Given the description of an element on the screen output the (x, y) to click on. 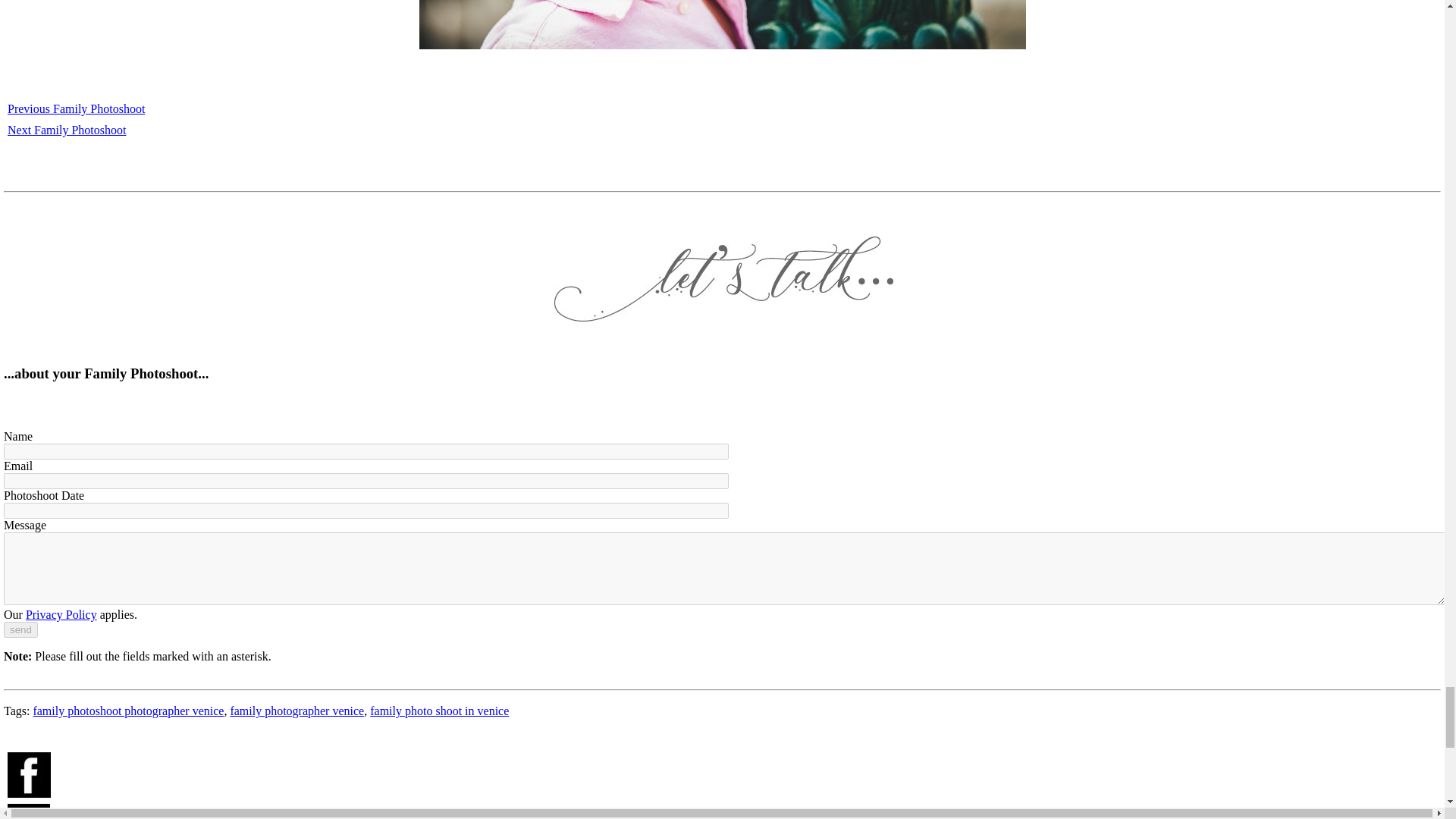
send (20, 629)
